Given the description of an element on the screen output the (x, y) to click on. 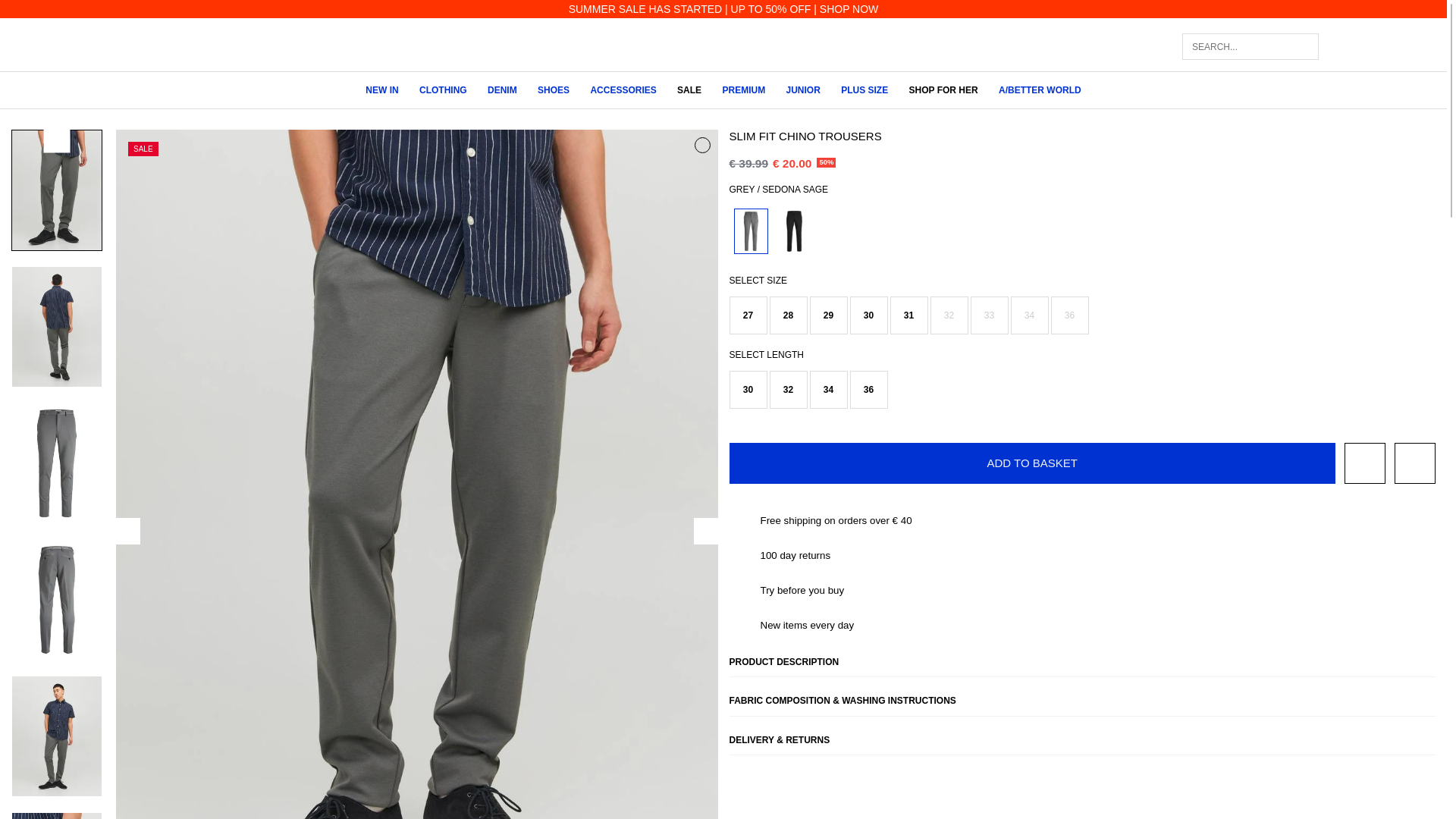
JUNIOR (802, 90)
DENIM (501, 90)
PLUS SIZE (864, 90)
SHOES (553, 90)
ACCESSORIES (622, 90)
NEW IN (381, 90)
Size guide (1414, 463)
PREMIUM (743, 90)
SALE (689, 90)
CLOTHING (443, 90)
SHOP FOR HER (943, 90)
